Given the description of an element on the screen output the (x, y) to click on. 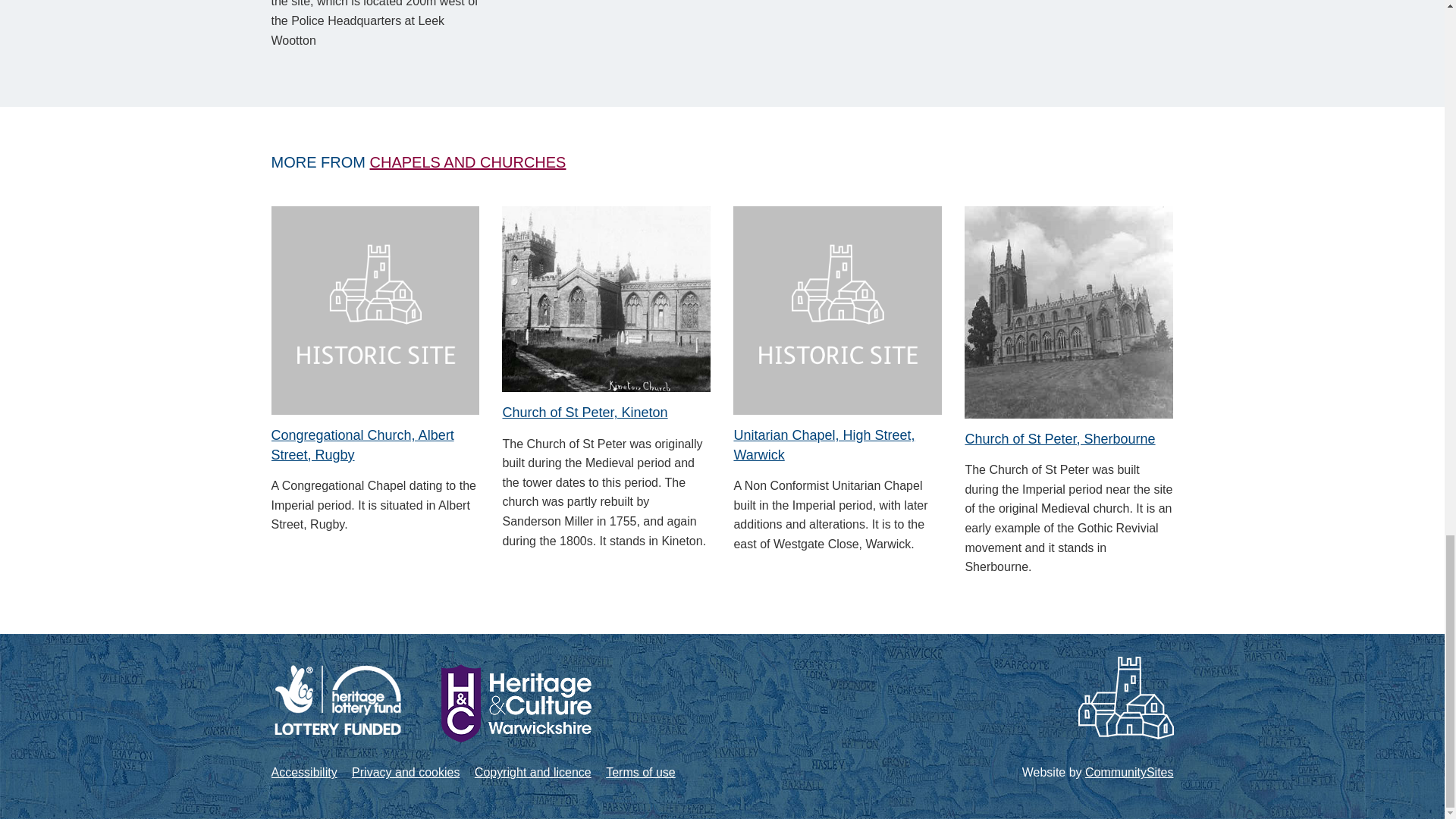
Heritage Lottery Fund (337, 698)
